Given the description of an element on the screen output the (x, y) to click on. 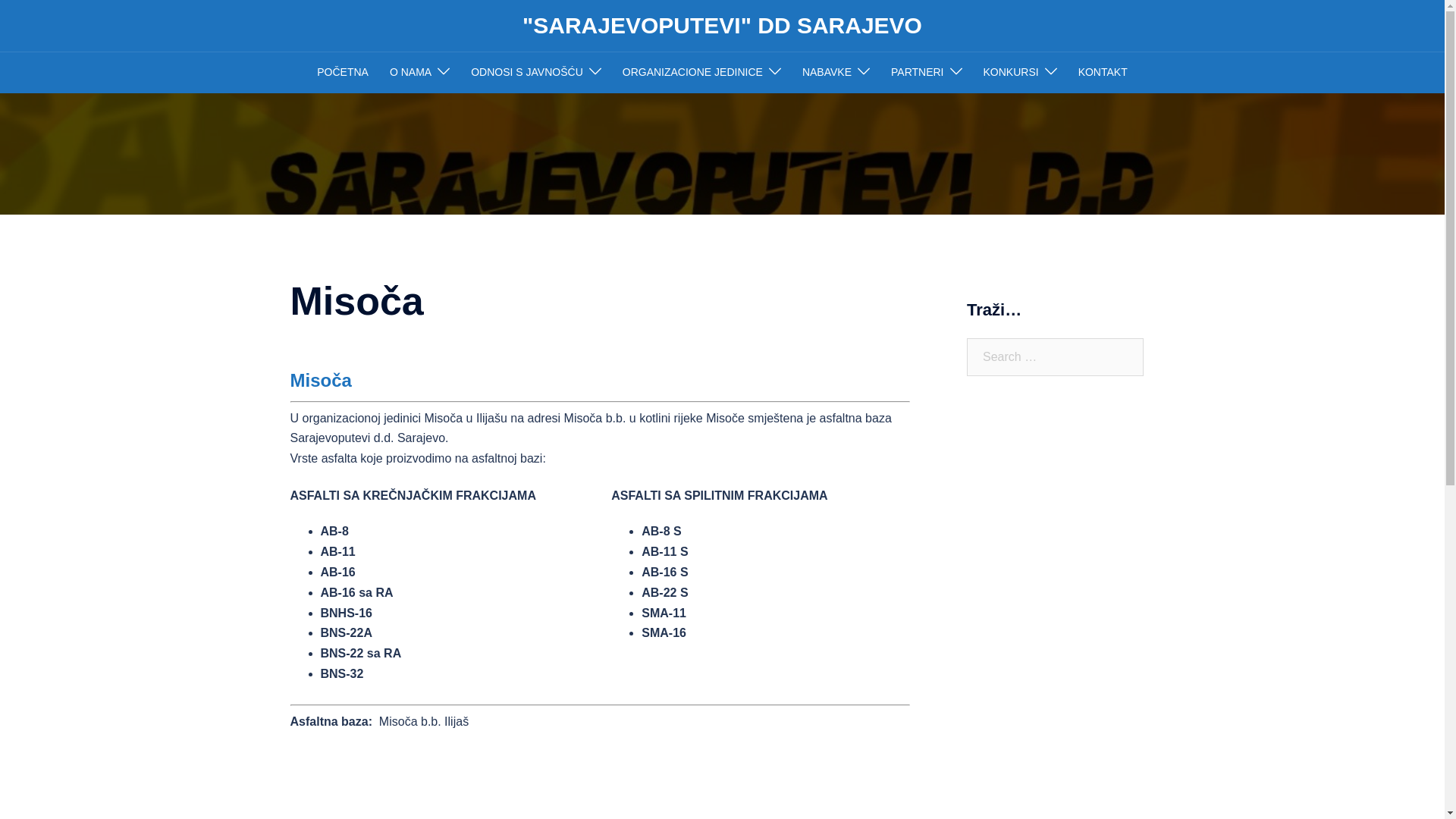
PARTNERI Element type: text (917, 72)
KONTAKT Element type: text (1102, 72)
Search Element type: text (49, 18)
NABAVKE Element type: text (826, 72)
ORGANIZACIONE JEDINICE Element type: text (692, 72)
"SARAJEVOPUTEVI" DD SARAJEVO Element type: text (722, 24)
KONKURSI Element type: text (1010, 72)
O NAMA Element type: text (410, 72)
